Given the description of an element on the screen output the (x, y) to click on. 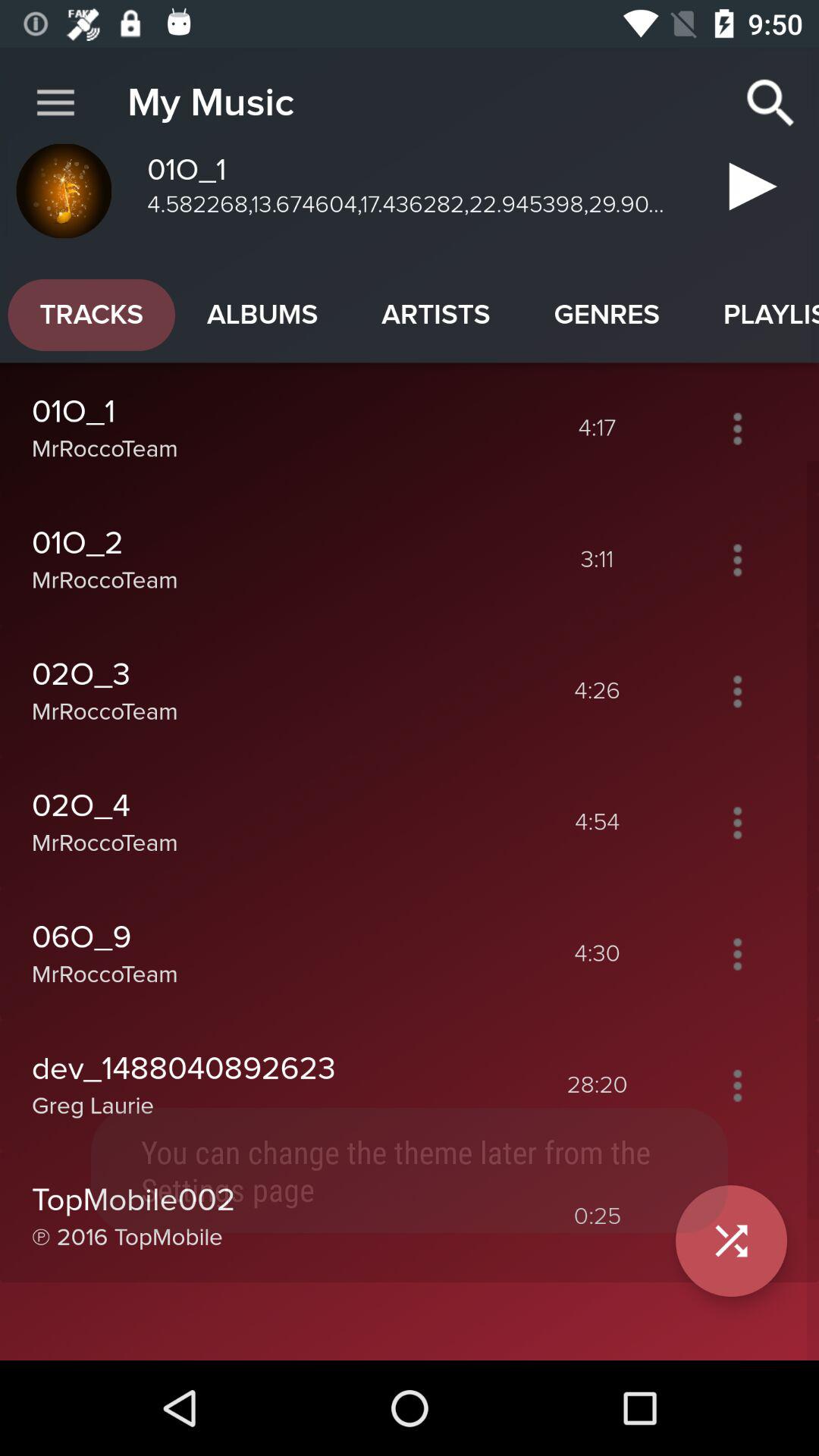
shuffle tracks (737, 1216)
